Given the description of an element on the screen output the (x, y) to click on. 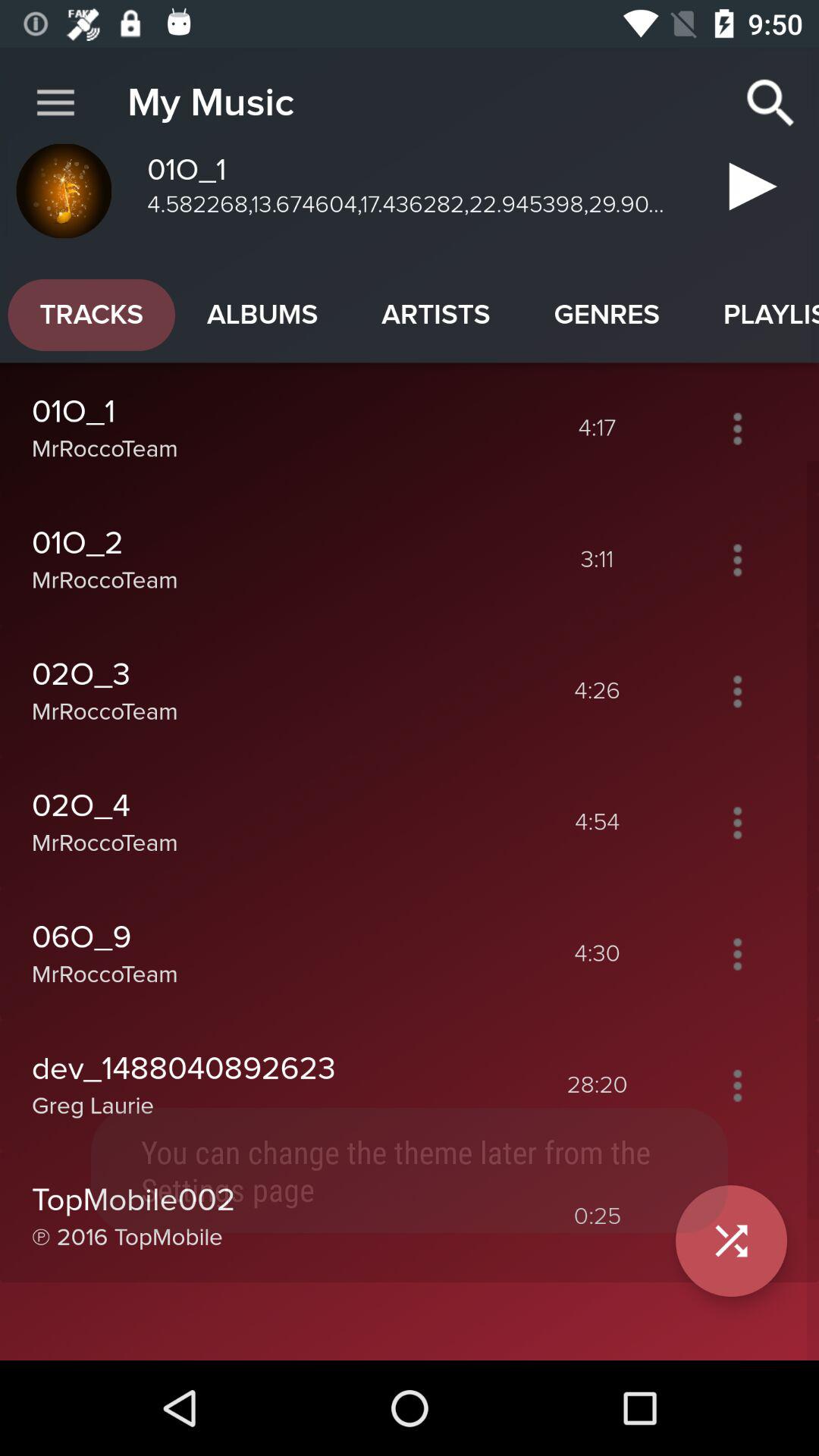
shuffle tracks (737, 1216)
